Given the description of an element on the screen output the (x, y) to click on. 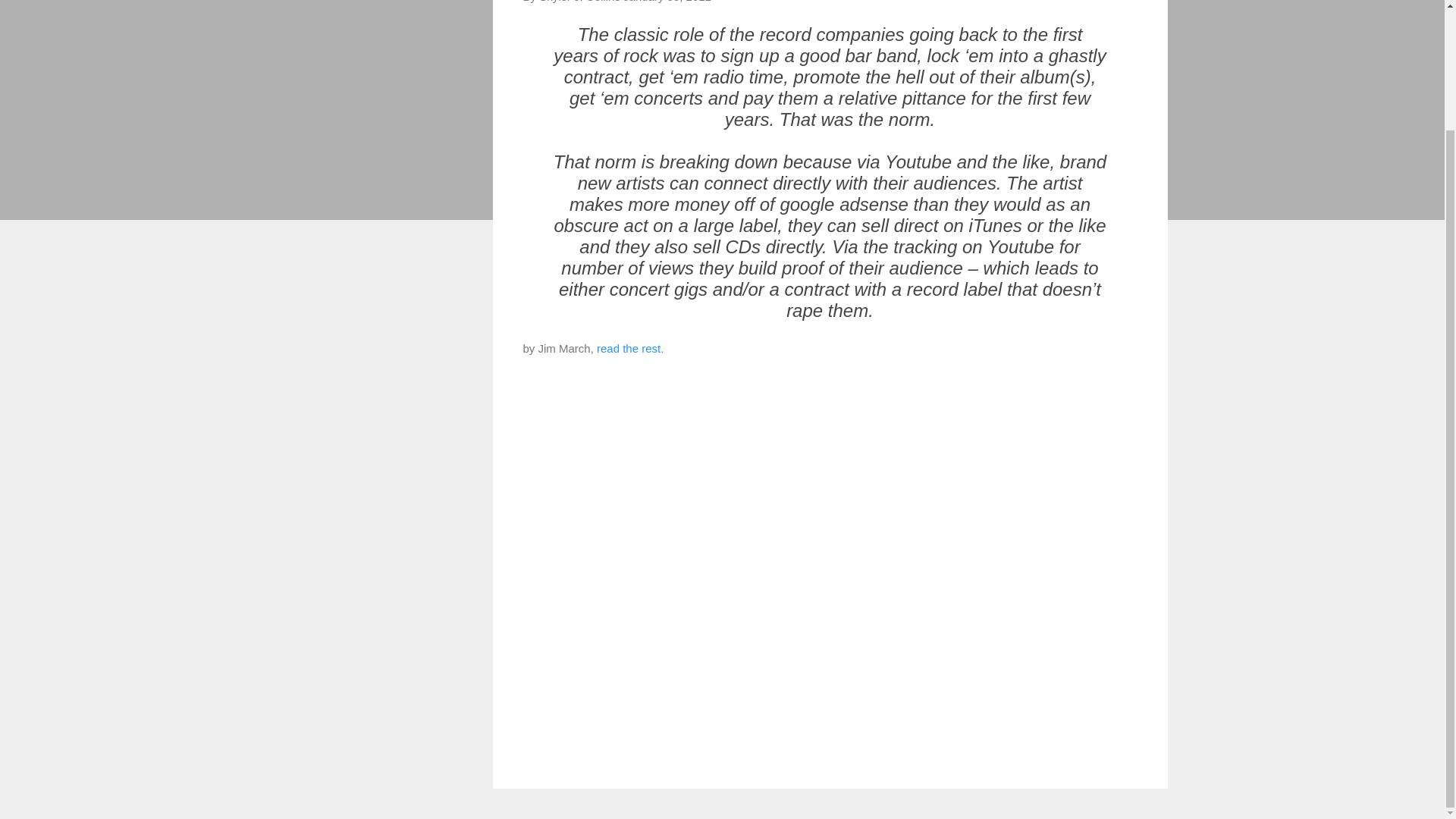
January 09, 2012 (667, 1)
read the rest (628, 348)
permanent link (667, 1)
